Given the description of an element on the screen output the (x, y) to click on. 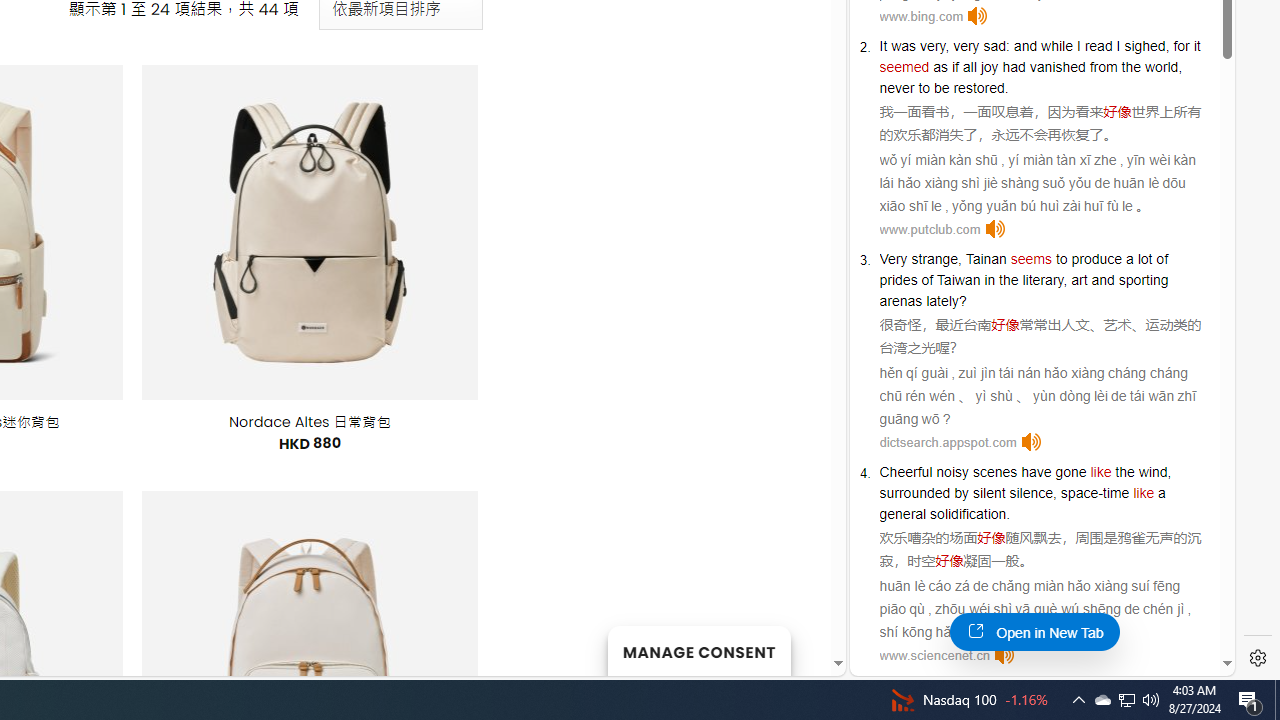
while (1056, 46)
, (1055, 493)
the (1124, 471)
solidification (968, 514)
